Given the description of an element on the screen output the (x, y) to click on. 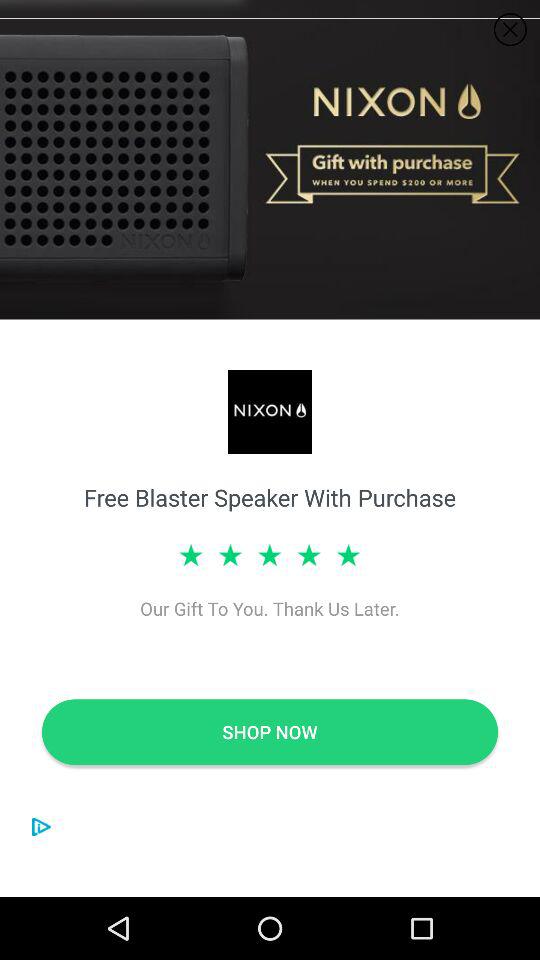
flip until shop now button (269, 732)
